Given the description of an element on the screen output the (x, y) to click on. 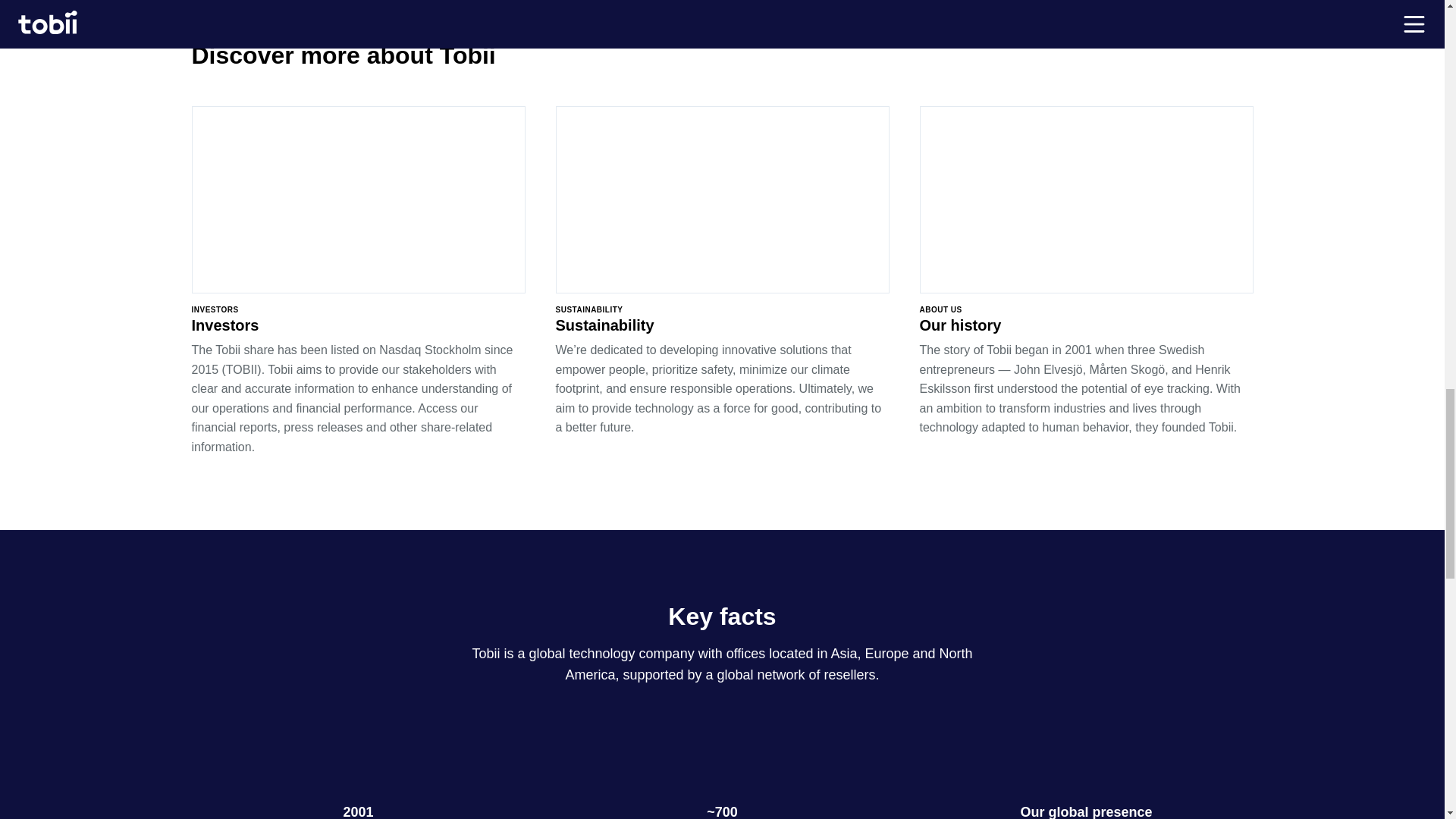
Sustainability (721, 271)
Investors (357, 281)
Our history (1085, 271)
